Given the description of an element on the screen output the (x, y) to click on. 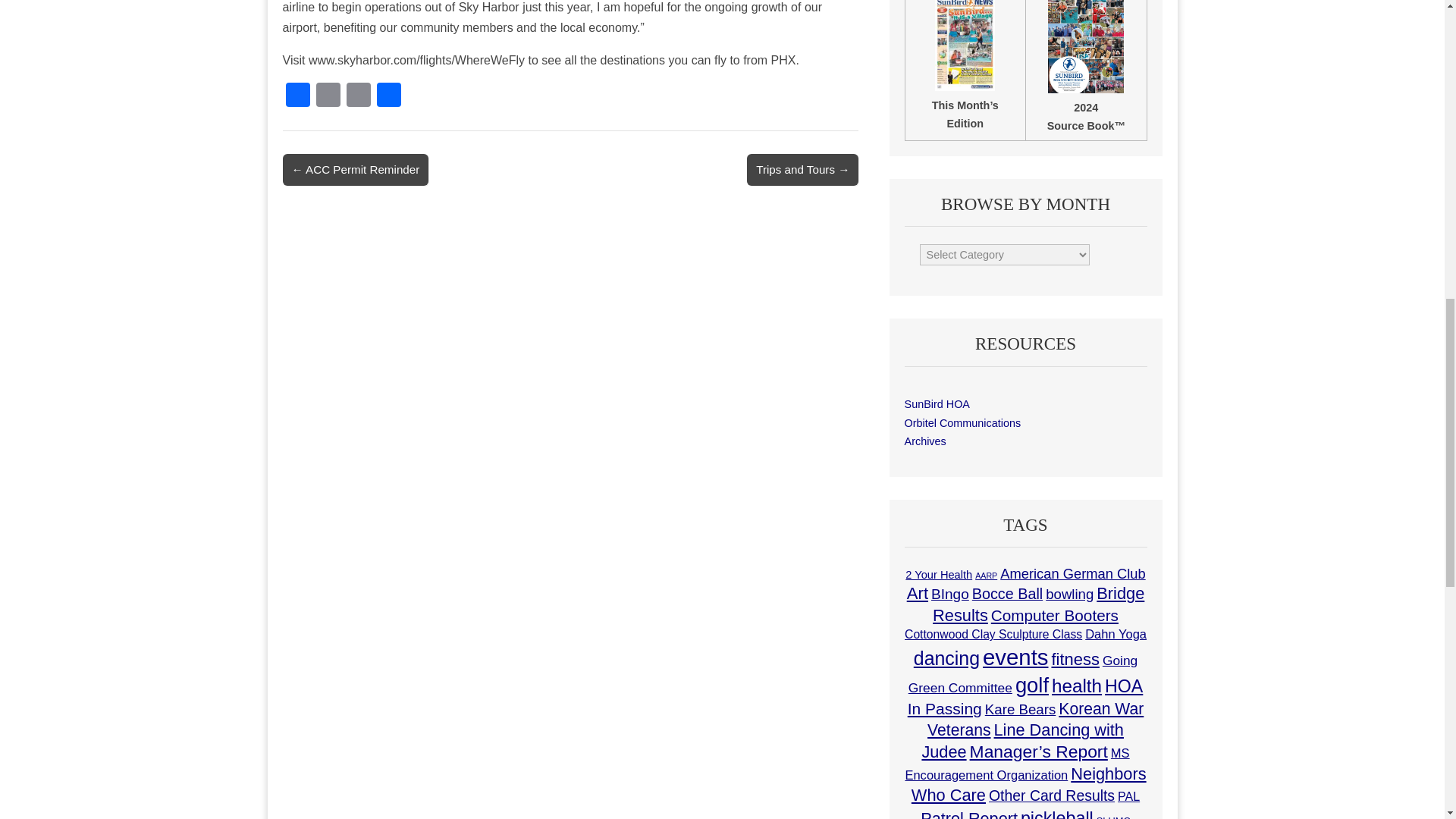
Print (357, 96)
Facebook (297, 96)
Facebook (297, 96)
Email (327, 96)
Share (387, 96)
Email (327, 96)
Print (357, 96)
